Given the description of an element on the screen output the (x, y) to click on. 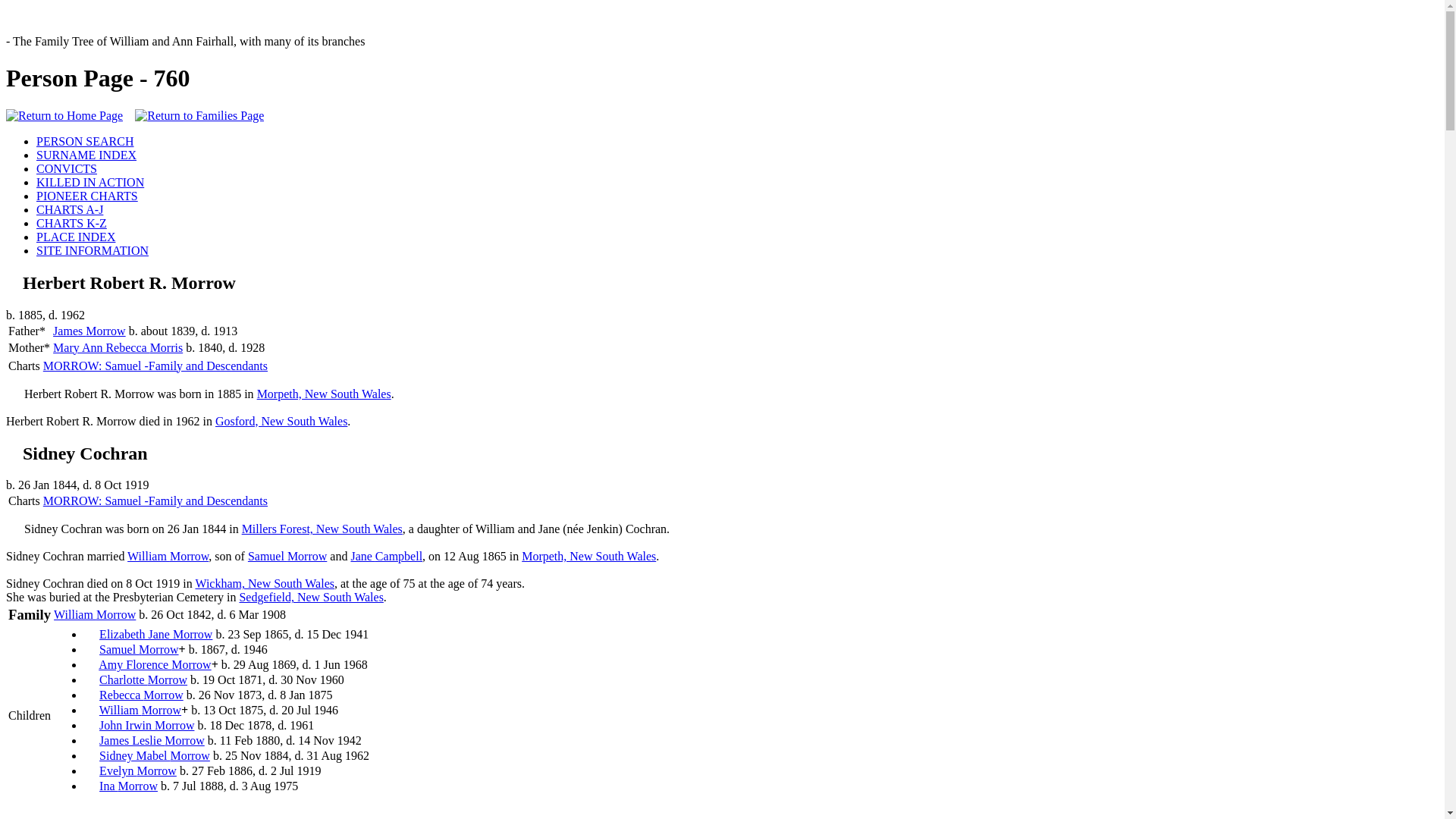
James Morrow Element type: text (89, 330)
CHARTS A-J Element type: text (69, 209)
Samuel Morrow Element type: text (138, 649)
Male Element type: hover (90, 723)
William Morrow Element type: text (94, 614)
Female Element type: hover (90, 753)
Elizabeth Jane Morrow Element type: text (155, 633)
Rebecca Morrow Element type: text (141, 694)
MORROW: Samuel -Family and Descendants Element type: text (155, 365)
William Morrow Element type: text (140, 709)
Millers Forest, New South Wales Element type: text (321, 528)
Female Element type: hover (12, 448)
Female Element type: hover (90, 677)
PLACE INDEX Element type: text (75, 236)
Amy Florence Morrow Element type: text (154, 664)
Female Element type: hover (90, 662)
Gosford, New South Wales Element type: text (281, 420)
MORROW: Samuel -Family and Descendants Element type: text (155, 500)
Charlotte Morrow Element type: text (143, 679)
Male Element type: hover (12, 279)
SURNAME INDEX Element type: text (86, 154)
John Irwin Morrow Element type: text (146, 724)
CHARTS K-Z Element type: text (71, 222)
Evelyn Morrow Element type: text (137, 770)
CONVICTS Element type: text (66, 168)
Sedgefield, New South Wales Element type: text (310, 596)
Mary Ann Rebecca Morris Element type: text (117, 347)
Female Element type: hover (90, 632)
Female Element type: hover (90, 693)
William Morrow Element type: text (167, 555)
KILLED IN ACTION Element type: text (90, 181)
Male Element type: hover (90, 647)
James Leslie Morrow Element type: text (151, 740)
Ina Morrow Element type: text (128, 785)
Samuel Morrow Element type: text (286, 555)
PIONEER CHARTS Element type: text (87, 195)
Male Element type: hover (90, 738)
Wickham, New South Wales Element type: text (264, 583)
Morpeth, New South Wales Element type: text (324, 393)
Male Element type: hover (90, 708)
SITE INFORMATION Element type: text (92, 250)
Female Element type: hover (90, 784)
Morpeth, New South Wales Element type: text (588, 555)
Sidney Mabel Morrow Element type: text (154, 755)
Jane Campbell Element type: text (386, 555)
PERSON SEARCH Element type: text (84, 140)
Female Element type: hover (90, 768)
